Given the description of an element on the screen output the (x, y) to click on. 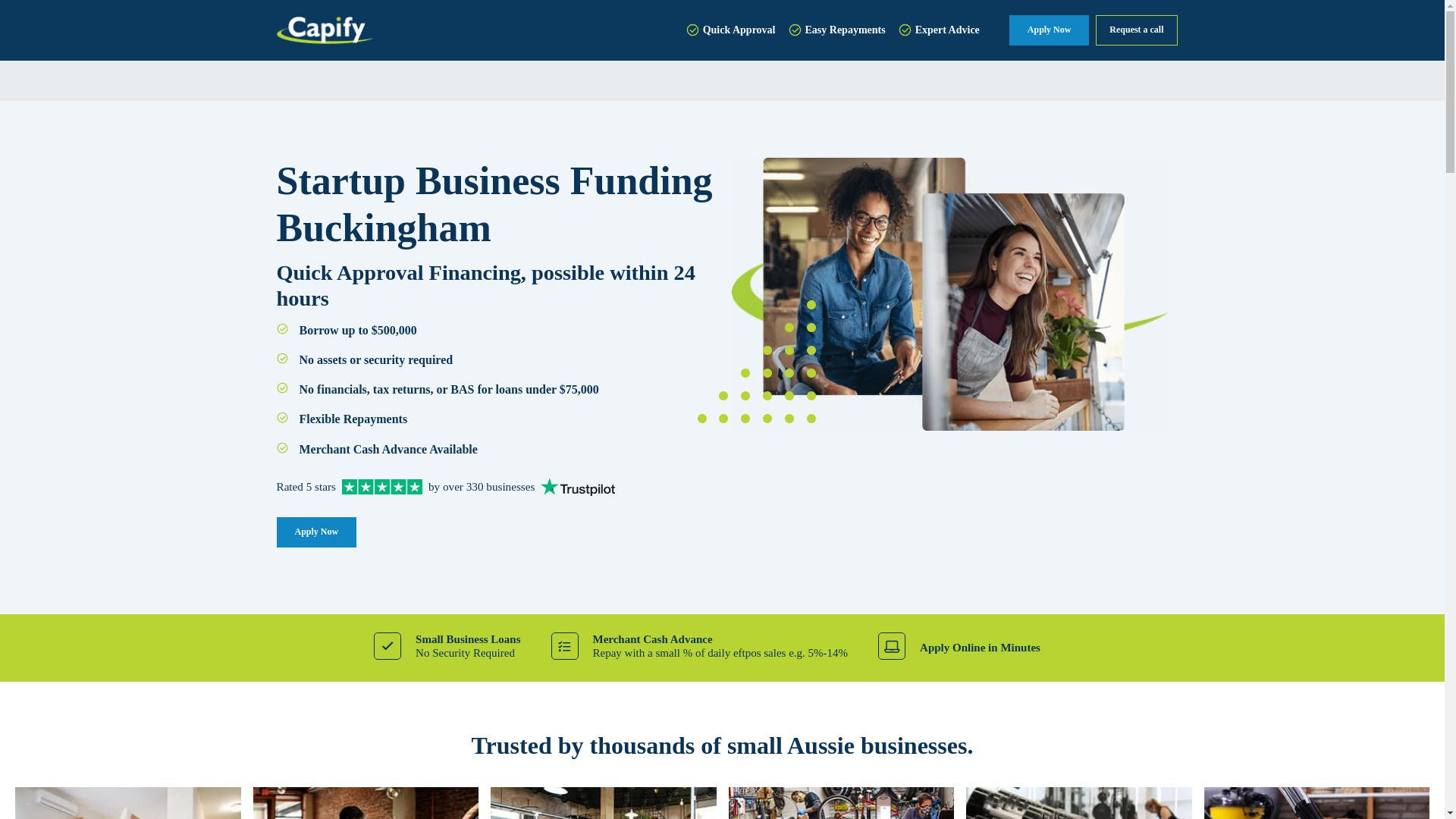
Apply Now (316, 531)
Request a call (1136, 30)
Apply Now (1049, 30)
